Given the description of an element on the screen output the (x, y) to click on. 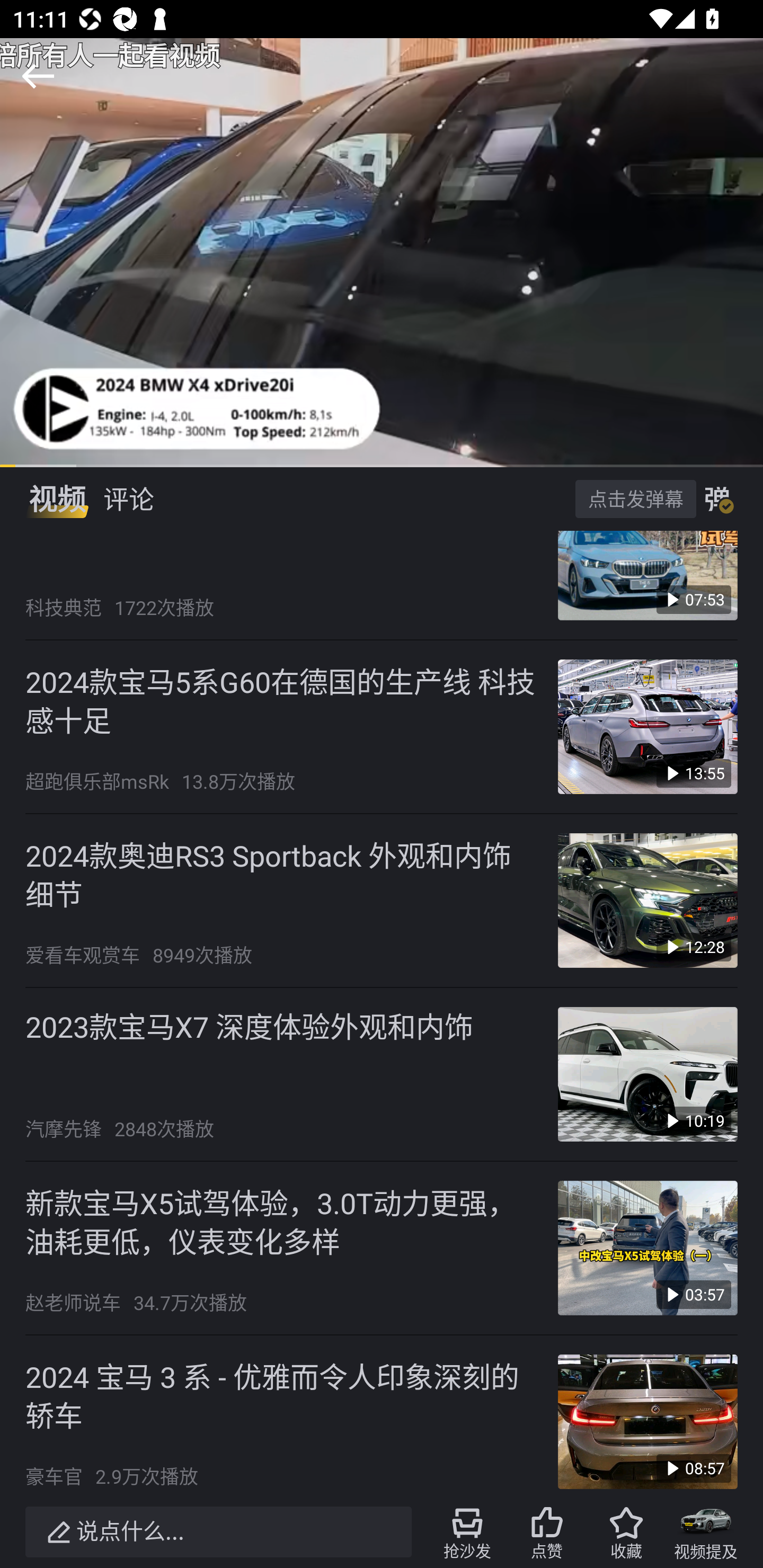
2.0 (381, 252)
 (38, 75)
视频 (57, 499)
评论 (128, 499)
点击发弹幕 (635, 498)
科技典范 1722次播放  07:53 (381, 585)
2023款宝马X7 深度体验外观和内饰 汽摩先锋 2848次播放  10:19 (381, 1074)
2024 宝马 3 系 - 优雅而令人印象深刻的轿车 豪车官 2.9万次播放  08:57 (381, 1415)
 抢沙发 (467, 1531)
点赞 (546, 1531)
收藏 (625, 1531)
视频提及 (705, 1531)
 说点什么... (218, 1531)
